Given the description of an element on the screen output the (x, y) to click on. 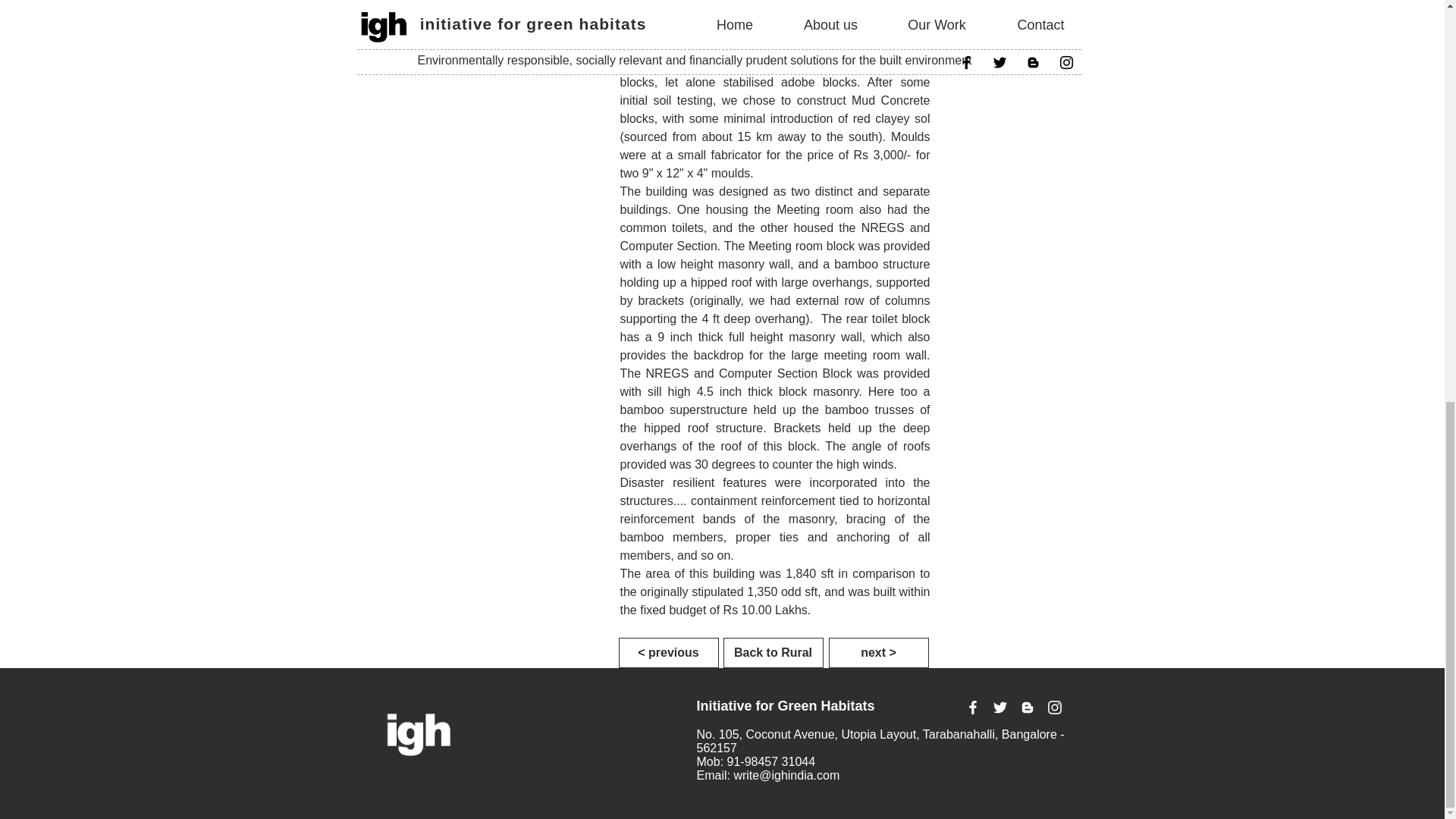
Back to Rural (773, 653)
